Given the description of an element on the screen output the (x, y) to click on. 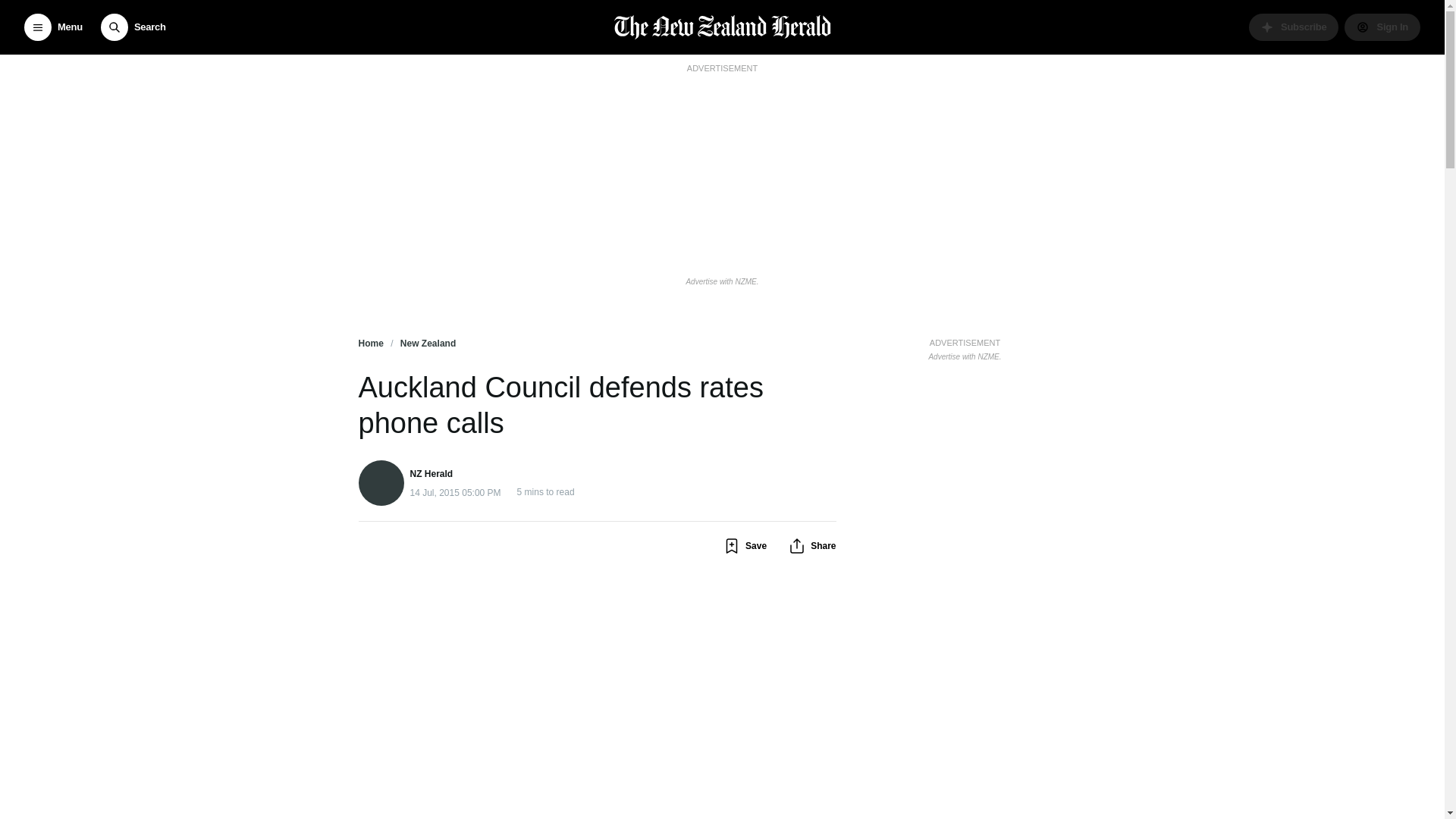
Subscribe (1294, 26)
Sign In (1382, 26)
Menu (53, 26)
Search (132, 26)
Manage your account (1382, 26)
